Given the description of an element on the screen output the (x, y) to click on. 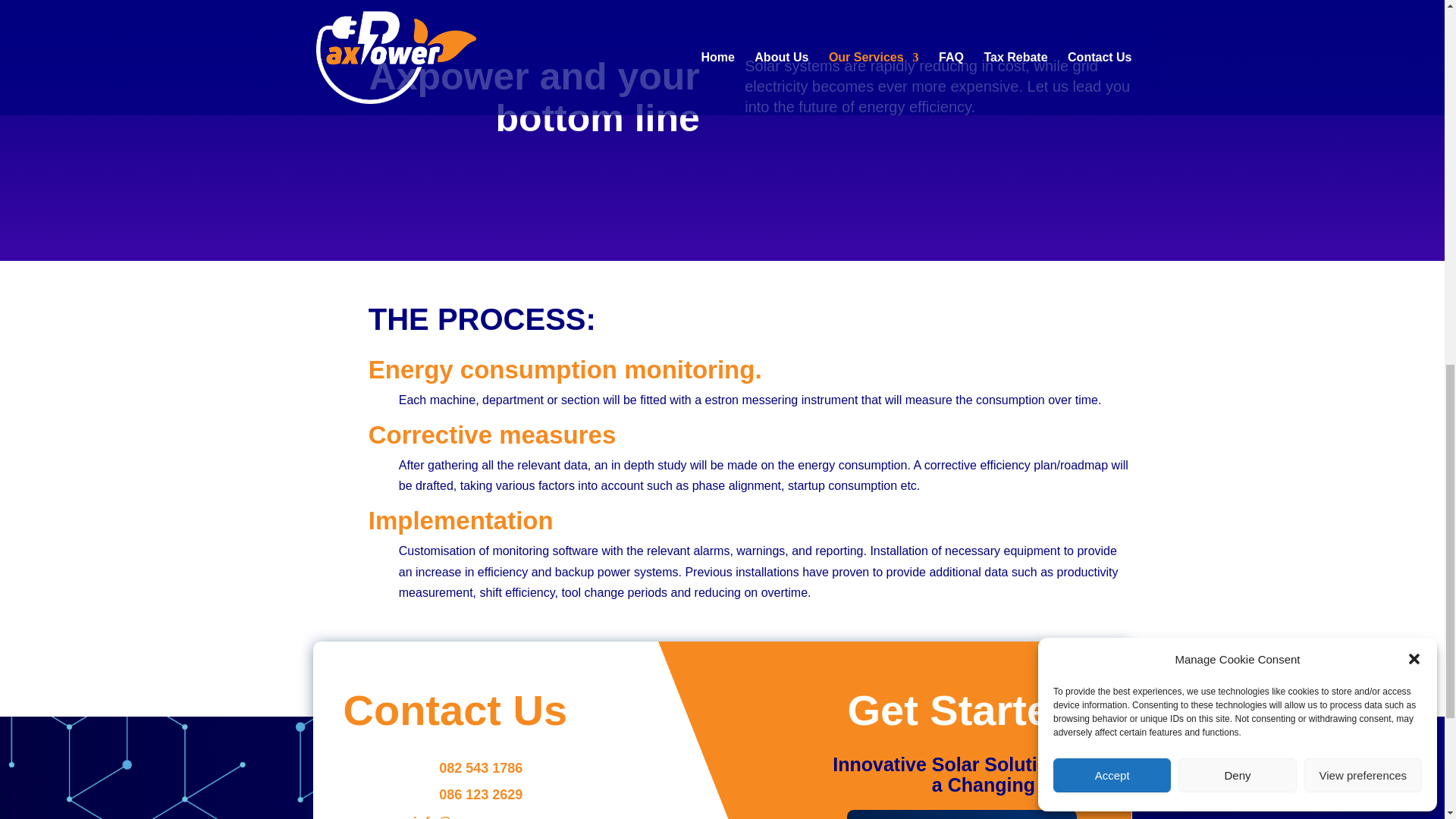
GET IN TOUCH (961, 814)
